Given the description of an element on the screen output the (x, y) to click on. 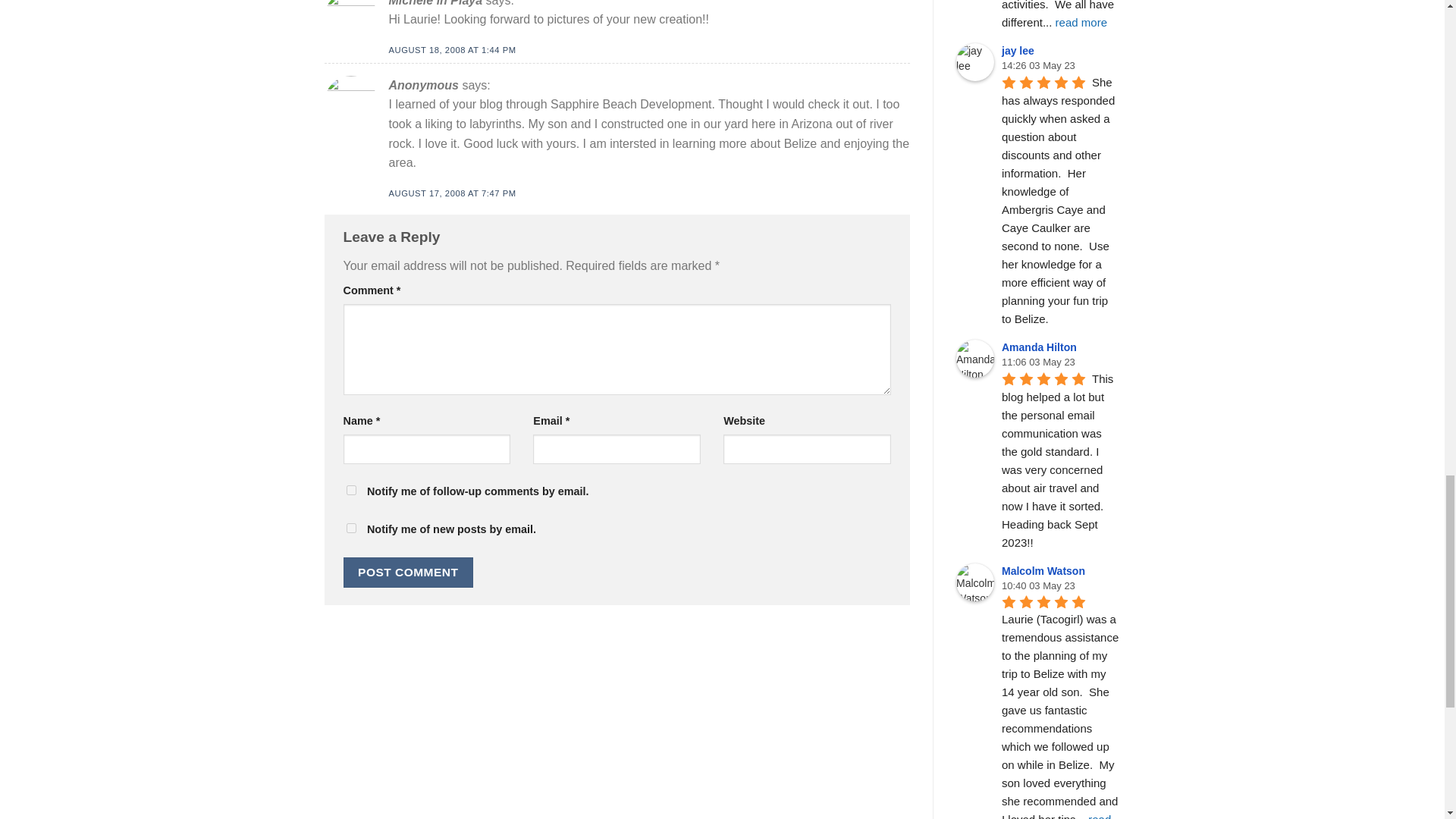
Malcolm Watson (975, 582)
jay lee (975, 62)
Amanda Hilton (975, 358)
Post Comment (407, 572)
subscribe (350, 490)
subscribe (350, 528)
